Given the description of an element on the screen output the (x, y) to click on. 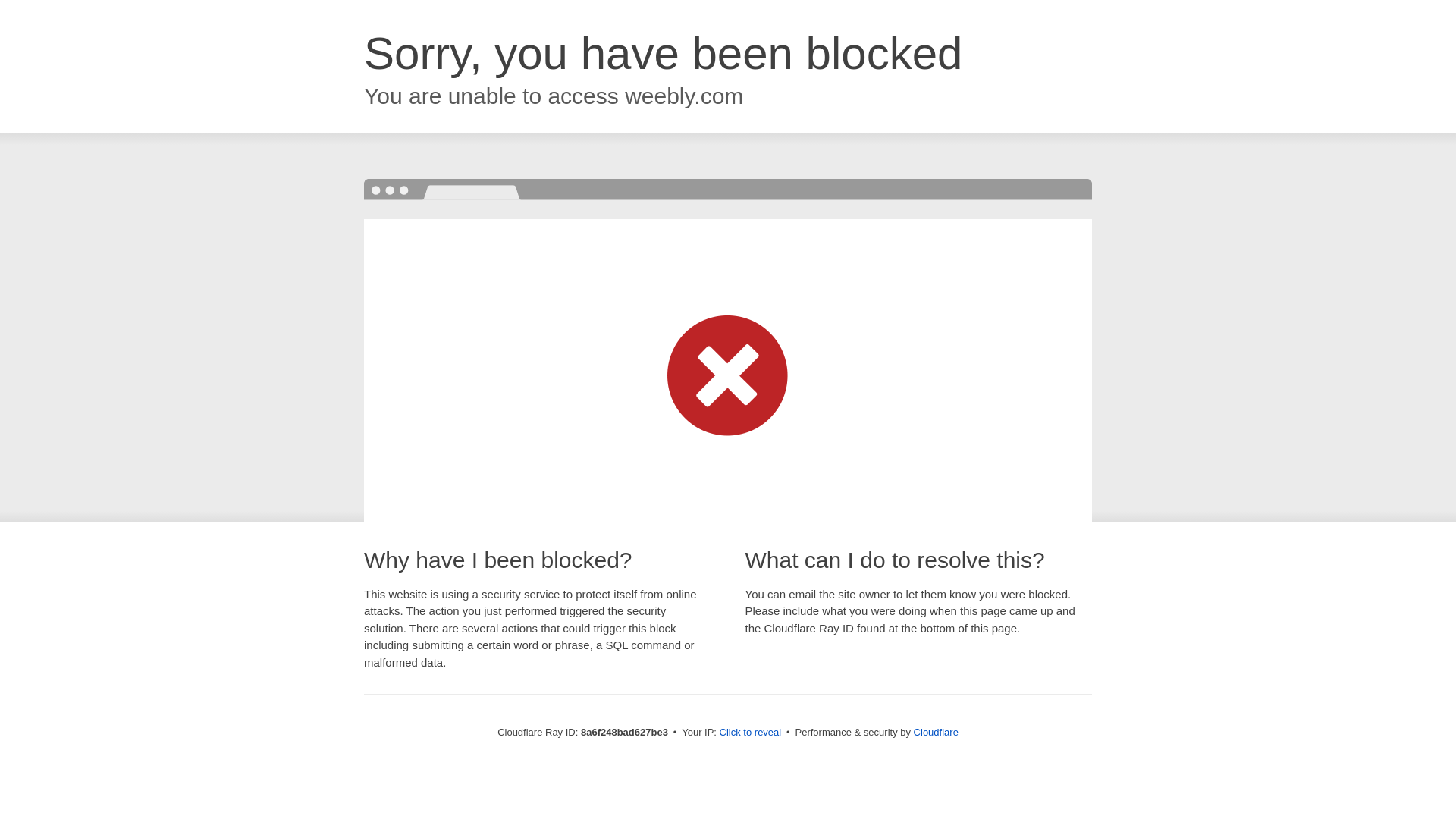
Cloudflare (936, 731)
Click to reveal (750, 732)
